Given the description of an element on the screen output the (x, y) to click on. 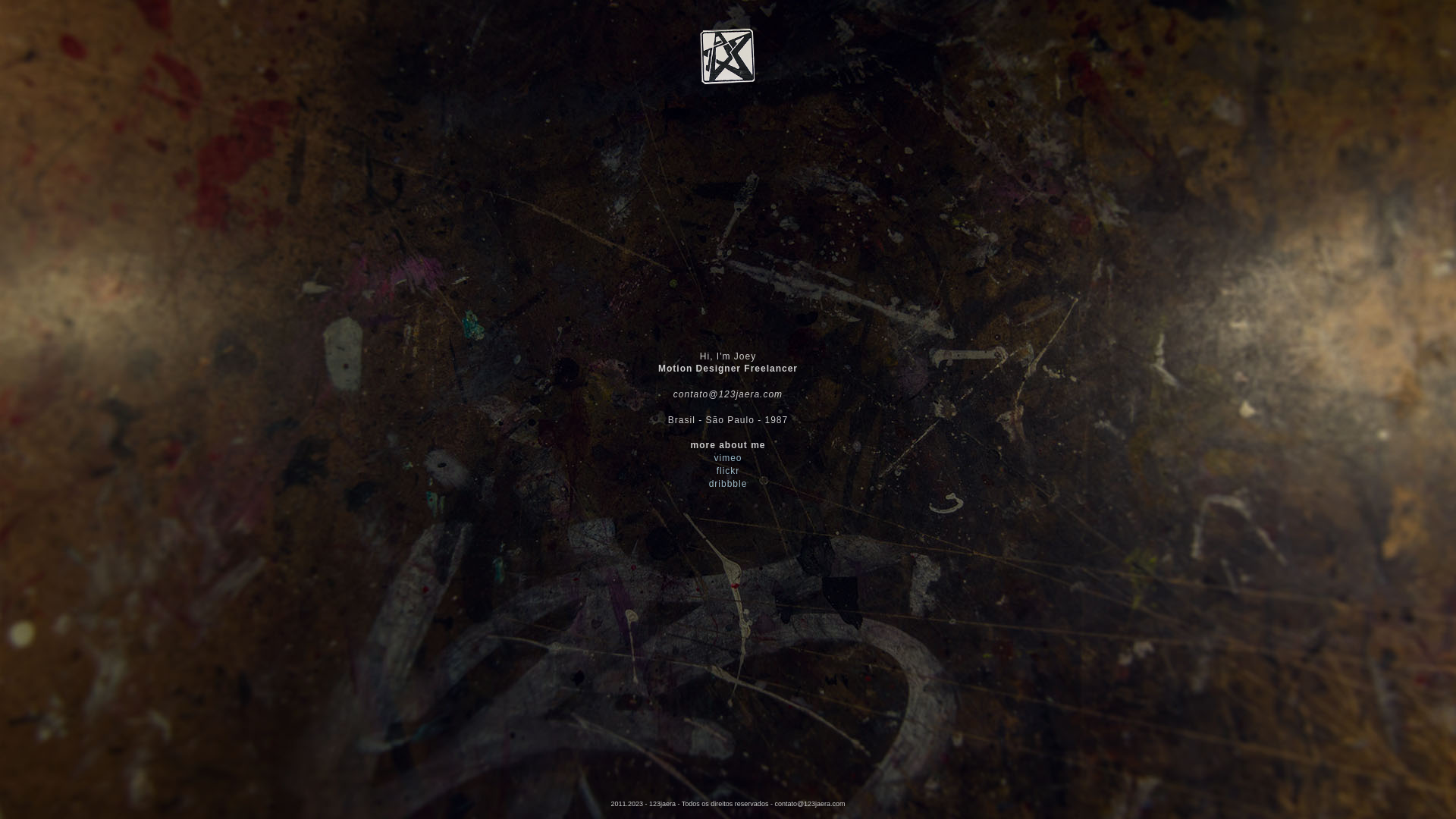
dribbble Element type: text (728, 483)
vimeo Element type: text (727, 457)
flickr Element type: text (728, 470)
